Given the description of an element on the screen output the (x, y) to click on. 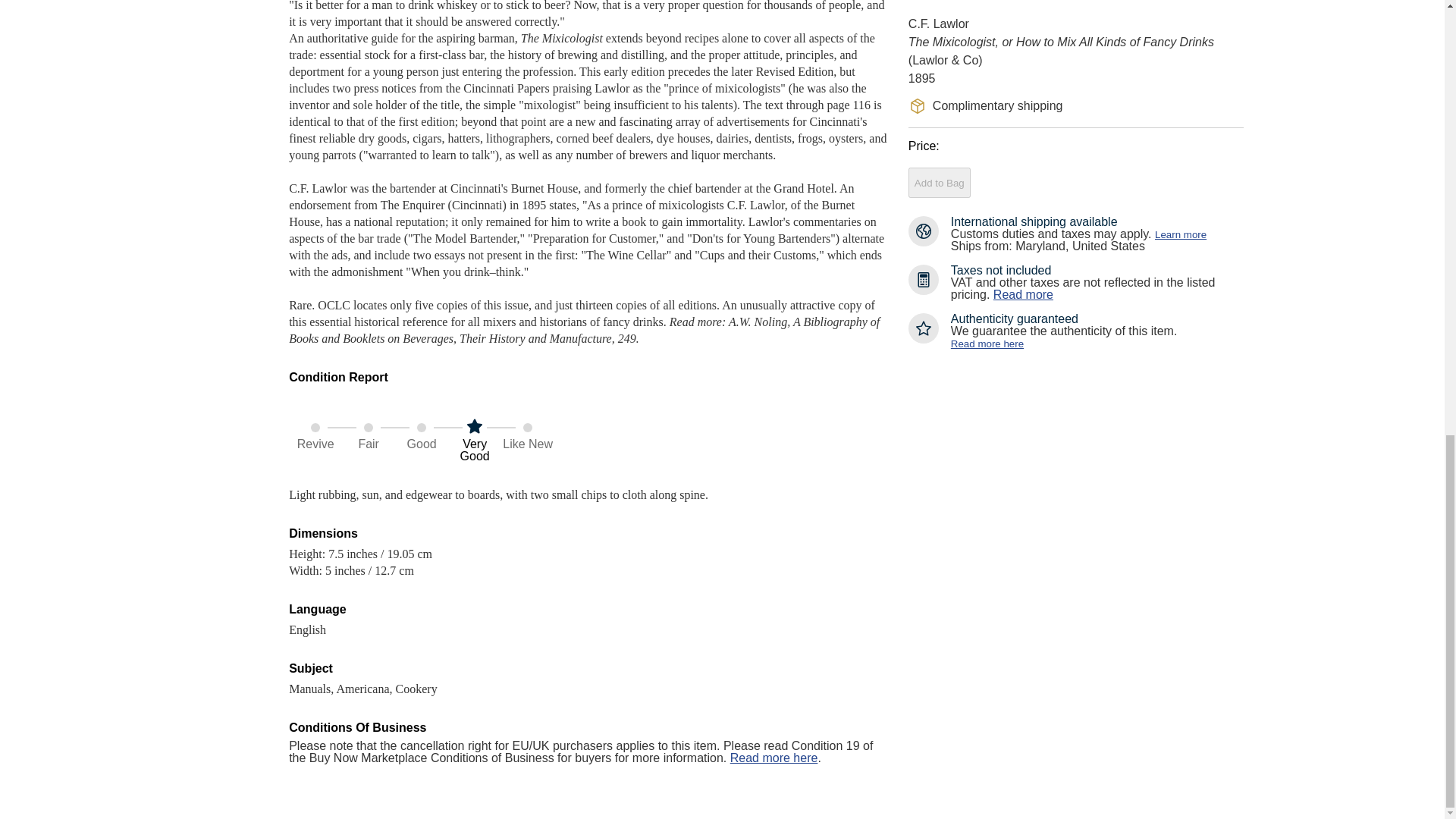
Read more here (774, 757)
